Given the description of an element on the screen output the (x, y) to click on. 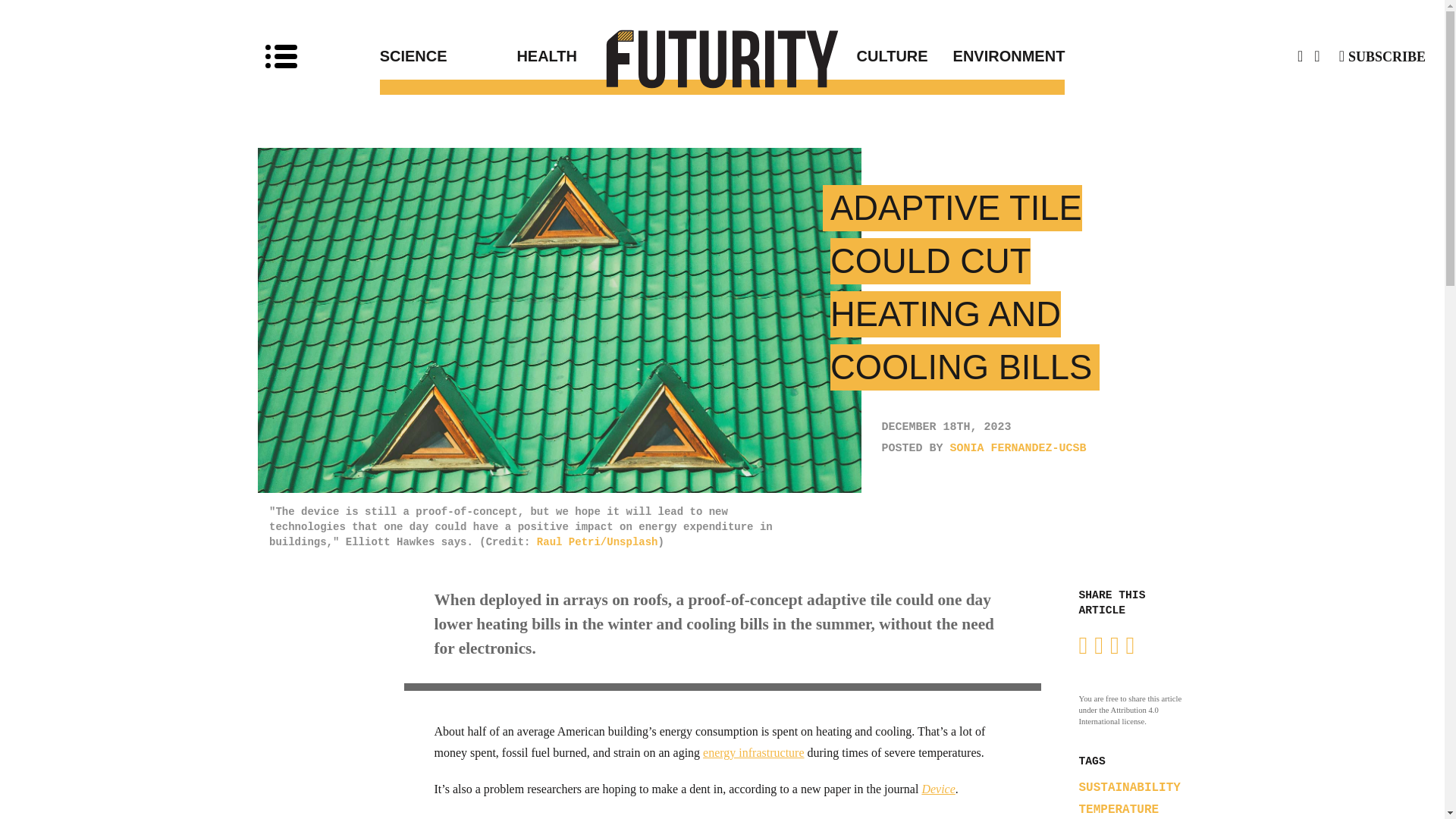
CULTURE (824, 55)
Research news from top universities (722, 58)
SUSTAINABILITY (1128, 787)
Culture (824, 55)
HEALTH (619, 55)
Environment (996, 55)
ENVIRONMENT (996, 55)
SUBSCRIBE (1382, 56)
Science (448, 55)
Health (619, 55)
SONIA FERNANDEZ-UCSB (1018, 448)
Device (938, 788)
energy infrastructure (753, 752)
TEMPERATURE (1118, 809)
SCIENCE (448, 55)
